Given the description of an element on the screen output the (x, y) to click on. 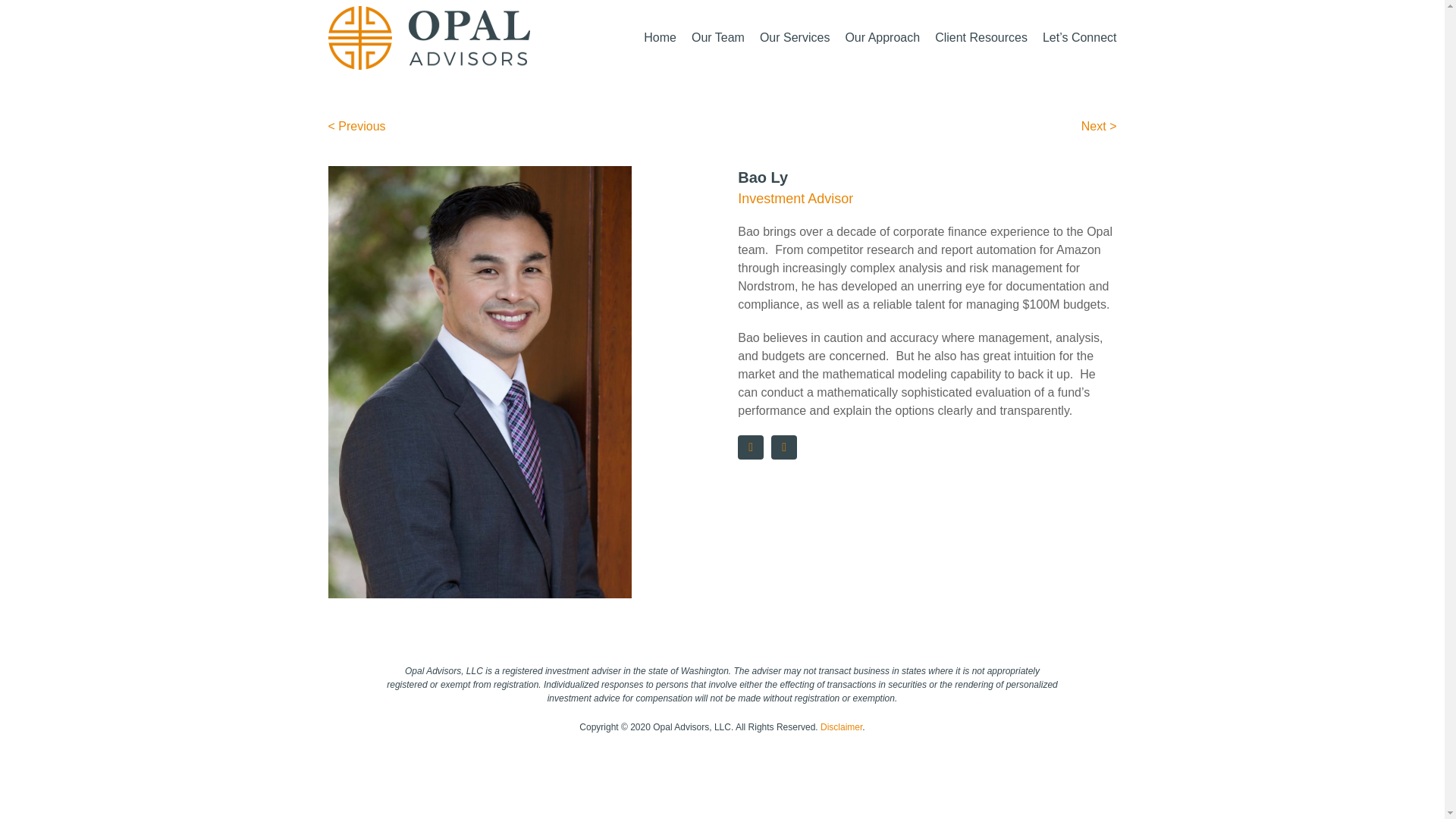
Our Approach (882, 38)
Disclaimer (841, 726)
Our Services (794, 38)
Client Resources (980, 38)
